Given the description of an element on the screen output the (x, y) to click on. 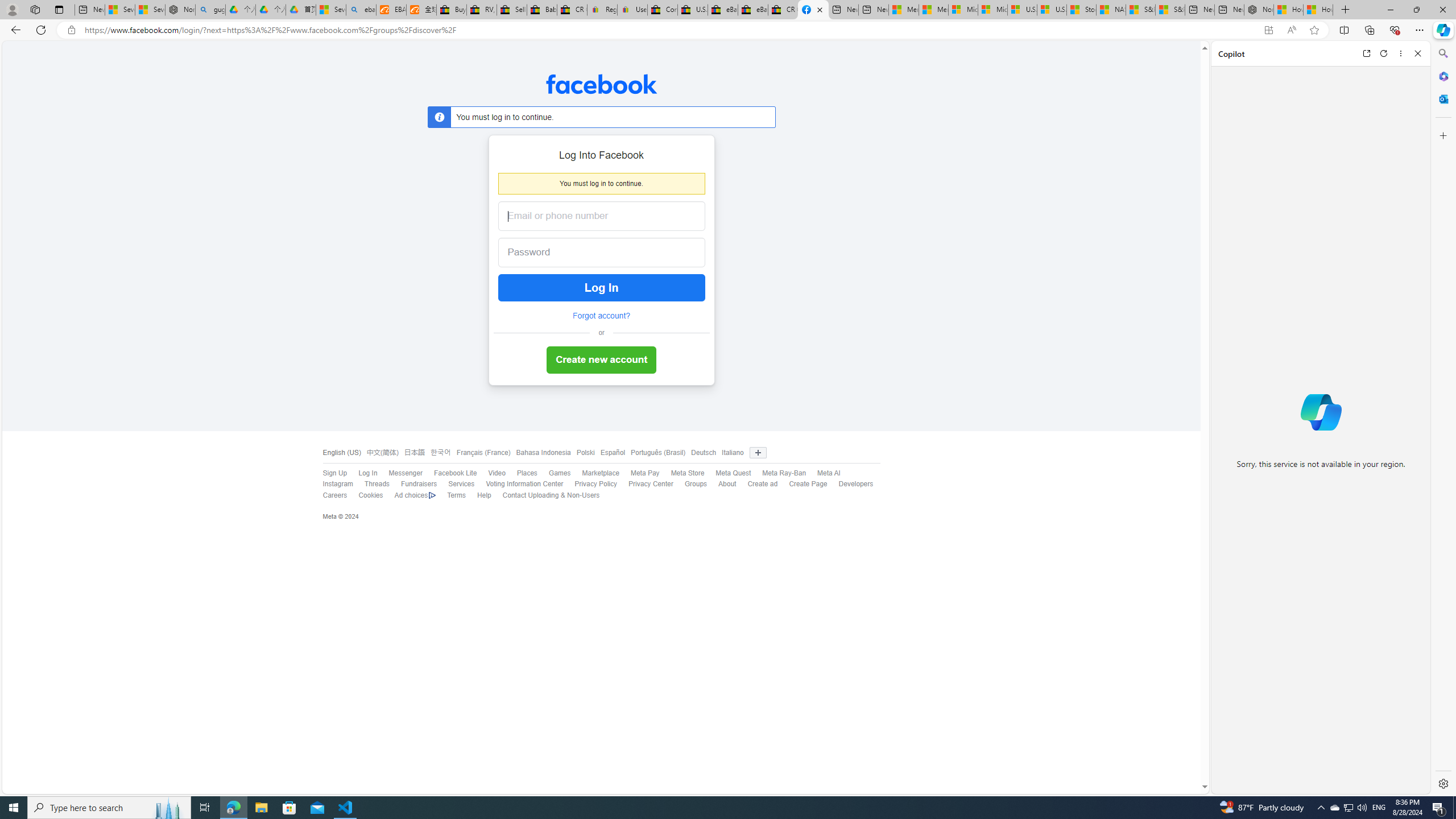
Marketplace (594, 473)
Help (484, 494)
How to Use a Monitor With Your Closed Laptop (1318, 9)
Fundraisers (412, 484)
Italiano (733, 452)
Meta Ray-Ban (783, 473)
Threads (371, 484)
Show more languages (757, 452)
Video (496, 473)
